Given the description of an element on the screen output the (x, y) to click on. 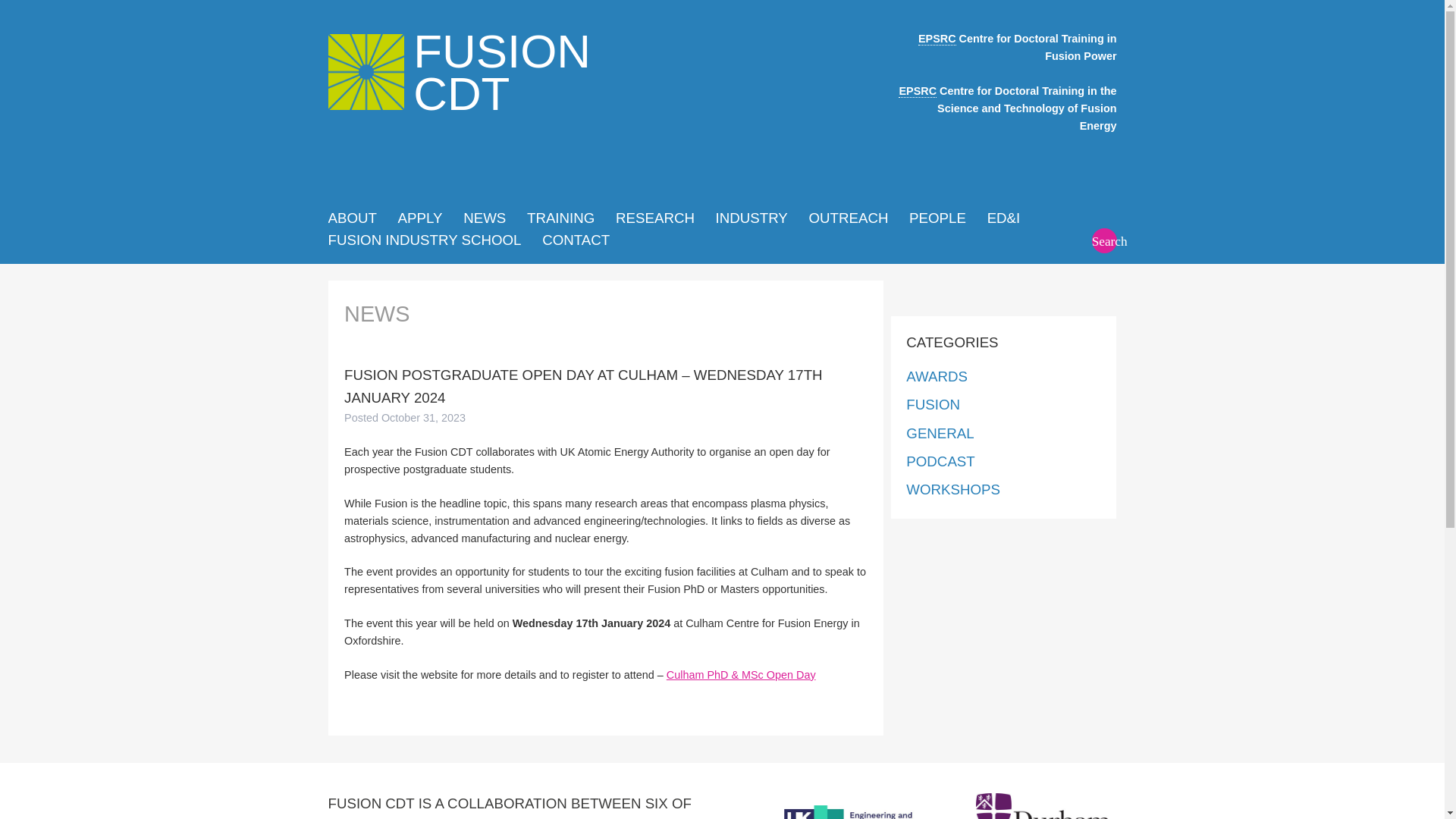
Search (1104, 240)
PEOPLE (937, 217)
FUSION INDUSTRY SCHOOL (424, 239)
PODCAST (939, 461)
AWARDS (936, 376)
TRAINING (459, 69)
Engineering and Physical Sciences Research Council (560, 217)
Engineering and Physical Sciences Research Council (917, 91)
INDUSTRY (937, 38)
Centre for Doctorial Training (751, 217)
GENERAL (459, 93)
NEWS (939, 433)
FUSION (484, 217)
APPLY (932, 404)
